Given the description of an element on the screen output the (x, y) to click on. 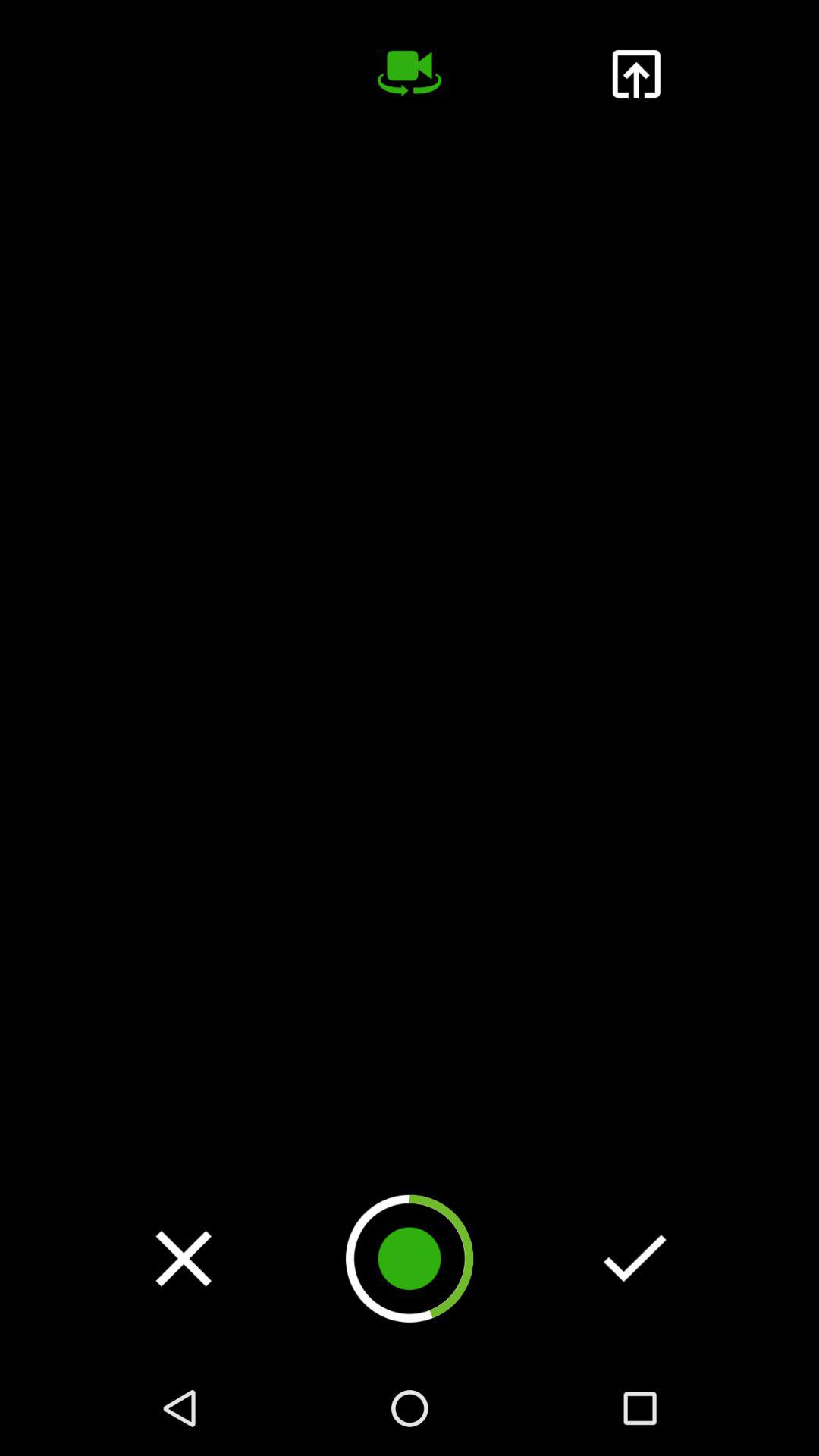
record video (409, 73)
